Given the description of an element on the screen output the (x, y) to click on. 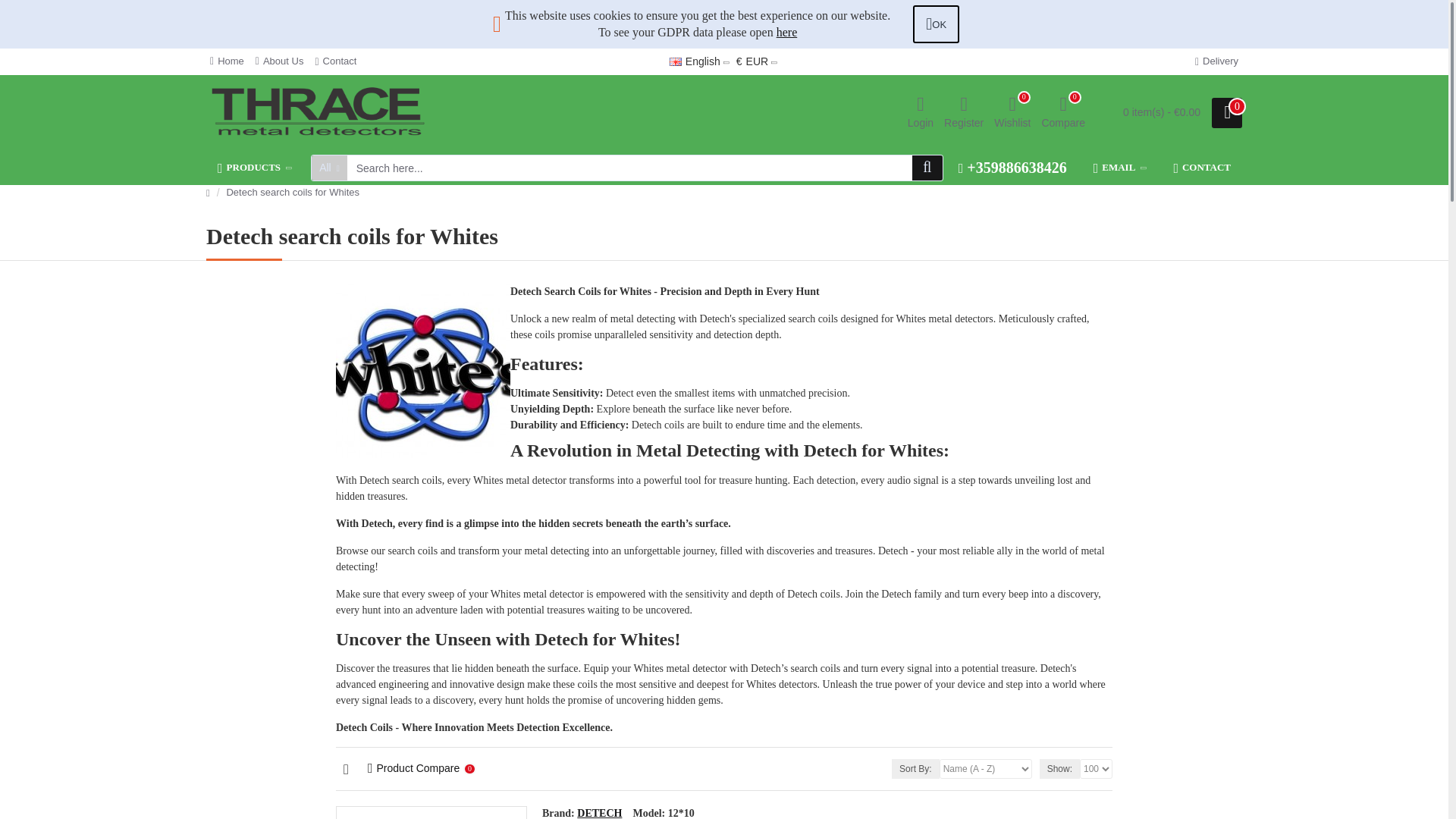
English (1011, 112)
English (694, 61)
Home (675, 61)
Register (226, 61)
PRODUCTS (963, 112)
About Us (256, 167)
Thrace Metal Detectors (279, 61)
Contact (319, 112)
Detech search coils for Whites (335, 61)
OK (423, 370)
Delivery (935, 23)
here (1062, 112)
